Given the description of an element on the screen output the (x, y) to click on. 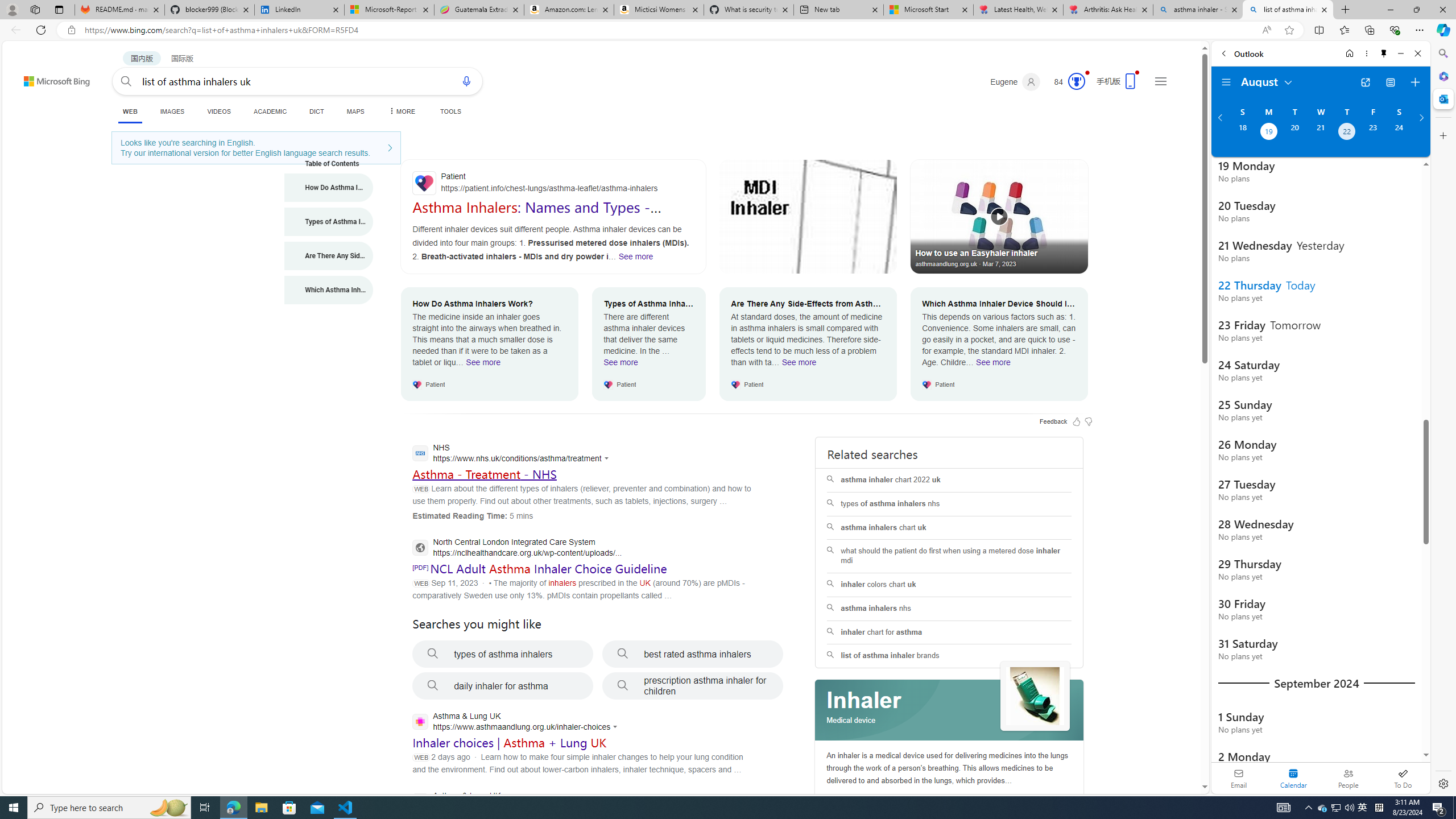
asthma inhaler chart 2022 uk (949, 480)
Types of Asthma Inhalers (328, 221)
NHS (513, 454)
inhaler chart for asthma (949, 632)
DICT (316, 111)
asthma inhalers nhs (949, 608)
